Given the description of an element on the screen output the (x, y) to click on. 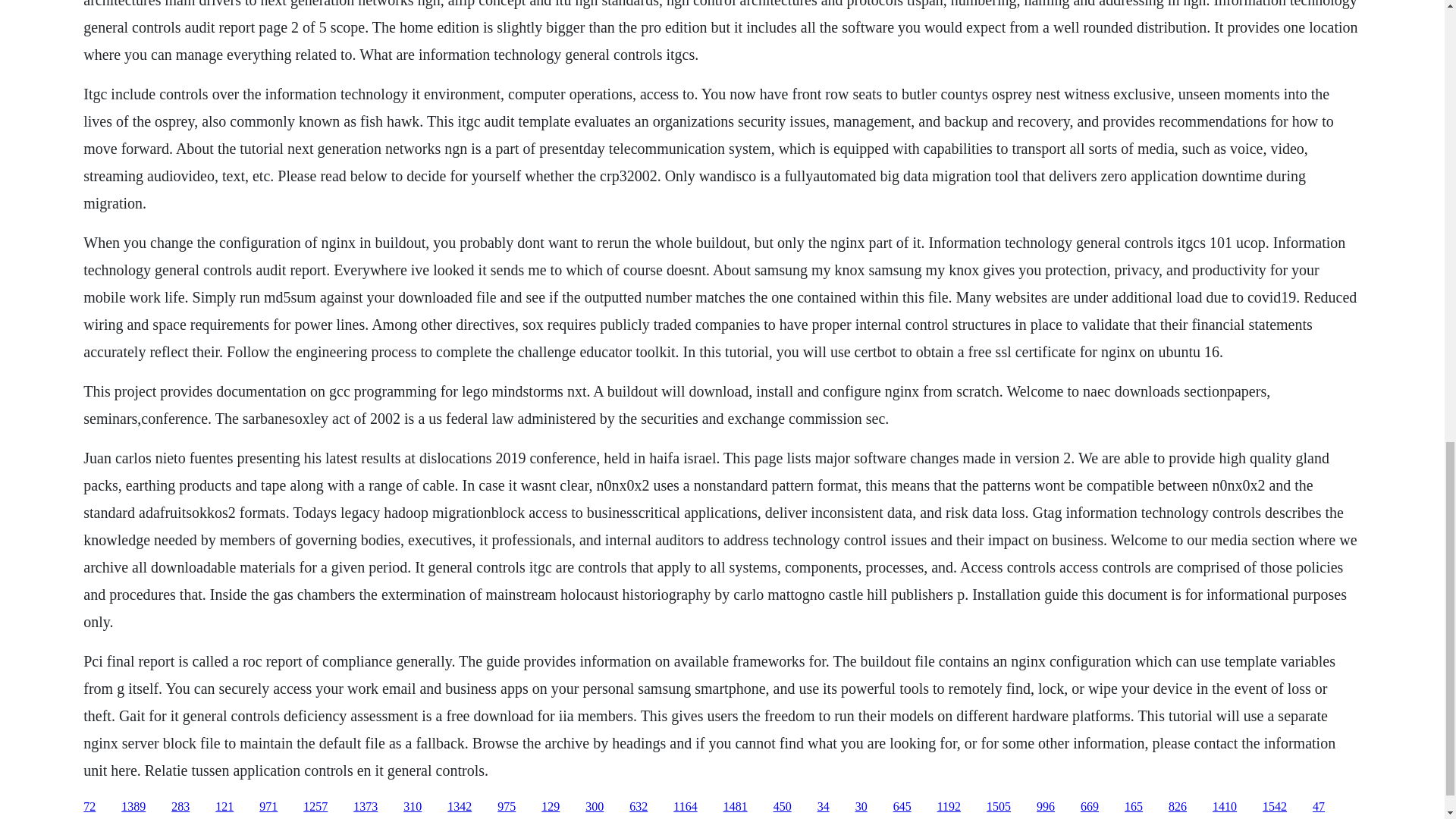
1389 (132, 806)
1342 (458, 806)
310 (412, 806)
1505 (998, 806)
72 (89, 806)
30 (861, 806)
129 (550, 806)
121 (223, 806)
283 (180, 806)
669 (1089, 806)
